Given the description of an element on the screen output the (x, y) to click on. 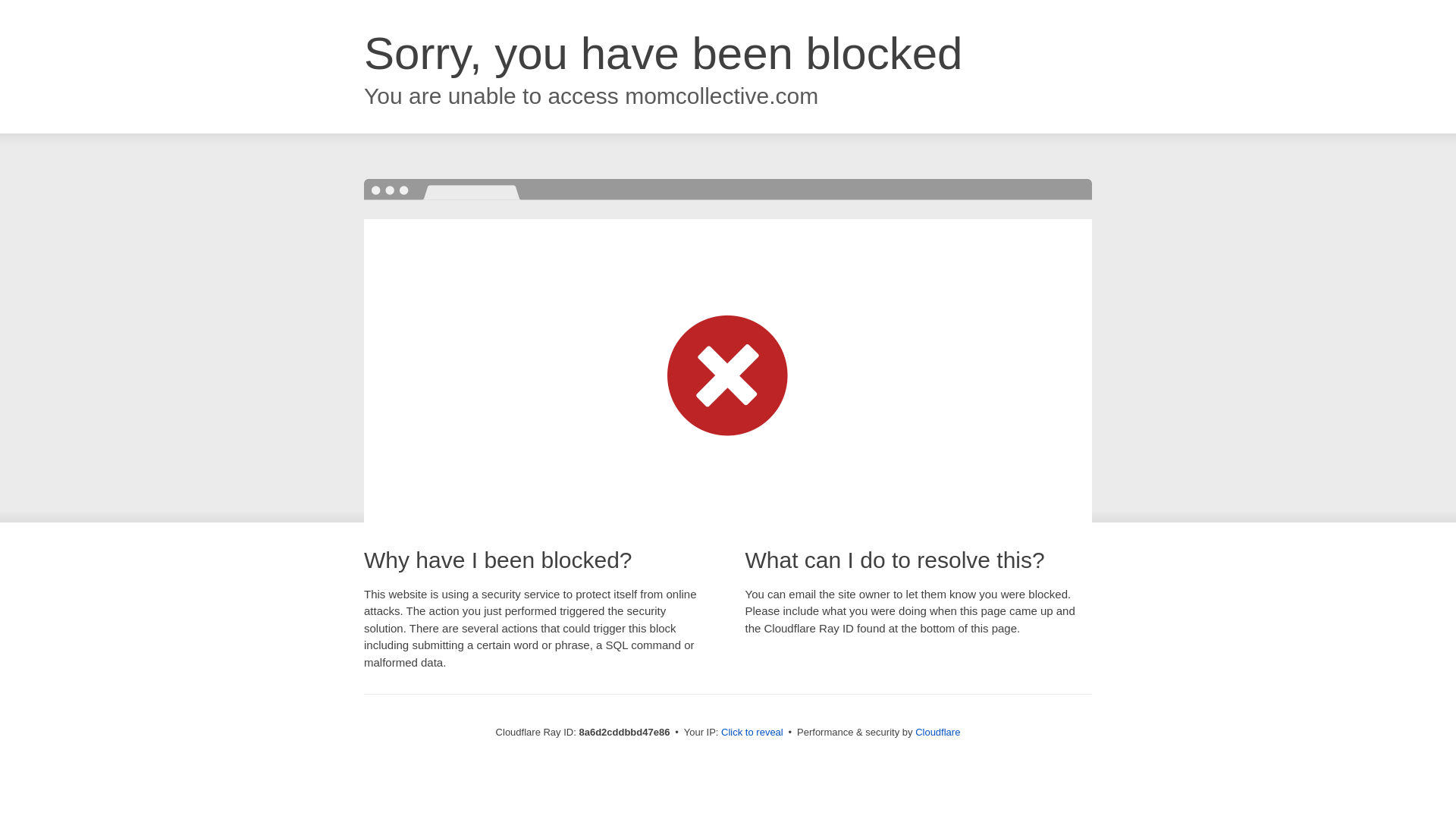
Click to reveal (751, 732)
Cloudflare (937, 731)
